Given the description of an element on the screen output the (x, y) to click on. 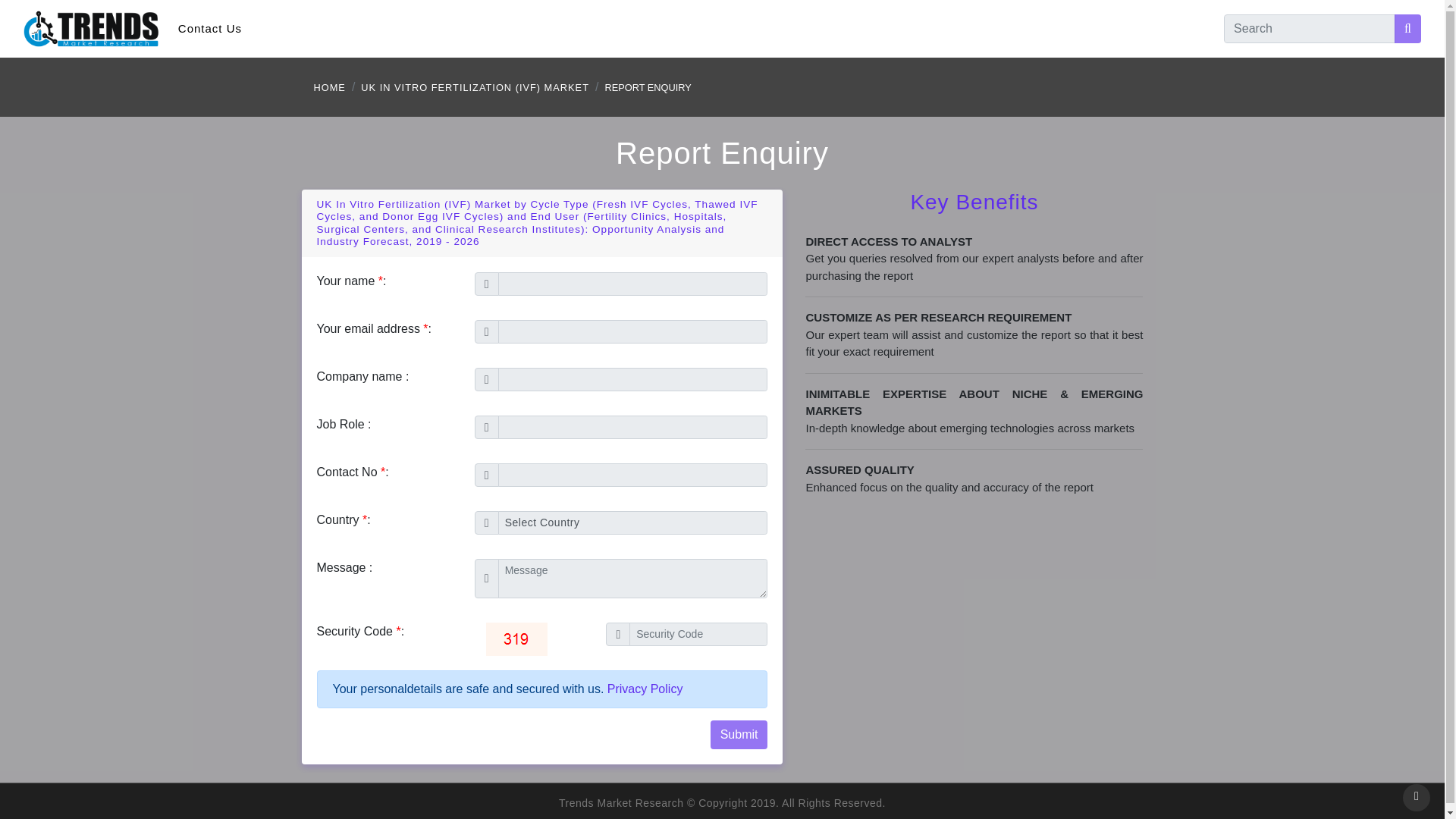
Contact Us (209, 29)
HOME (330, 87)
Captcha (516, 639)
Submit (739, 734)
Privacy Policy (644, 688)
